Given the description of an element on the screen output the (x, y) to click on. 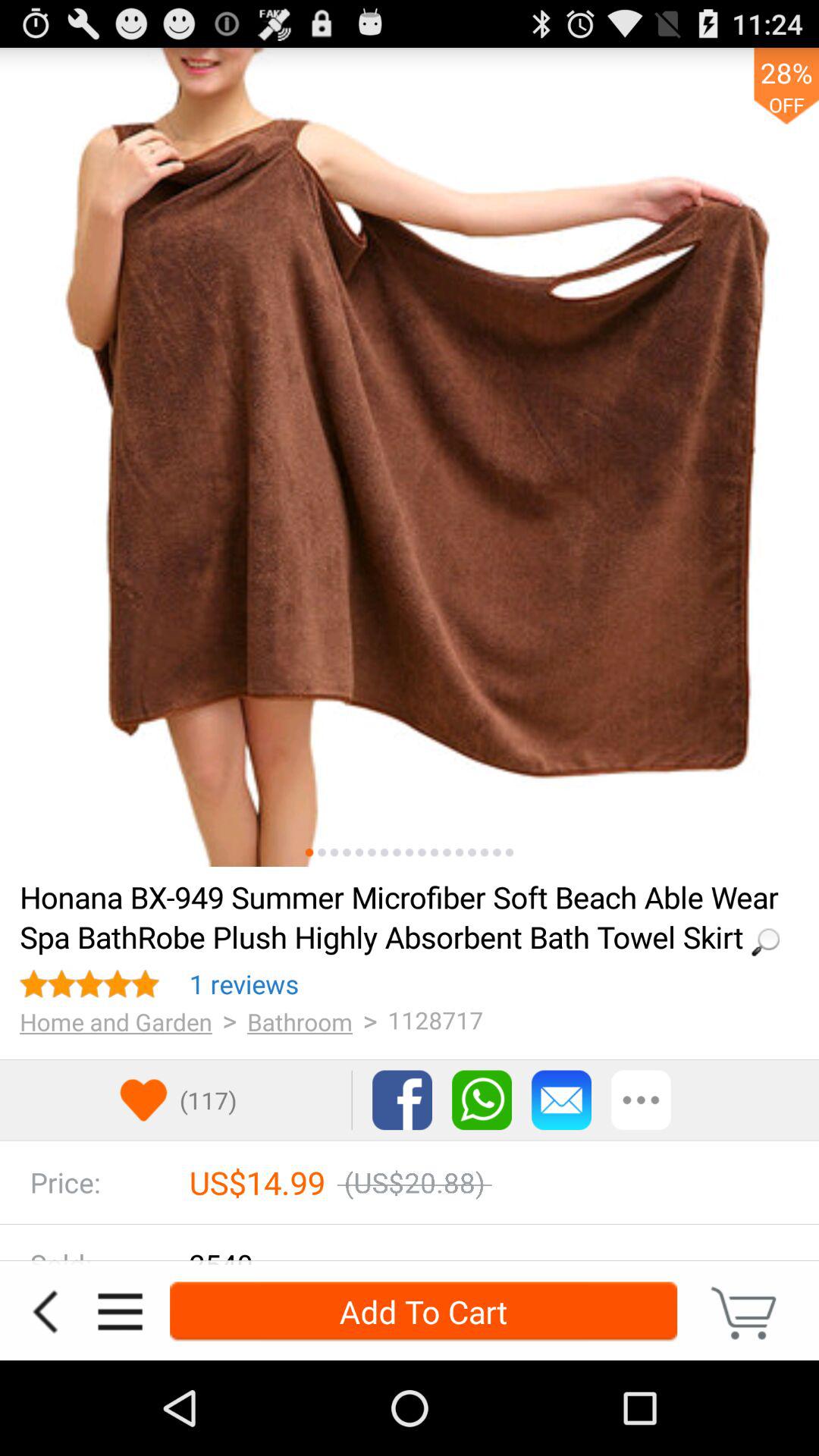
jump until the home and garden icon (115, 1021)
